Given the description of an element on the screen output the (x, y) to click on. 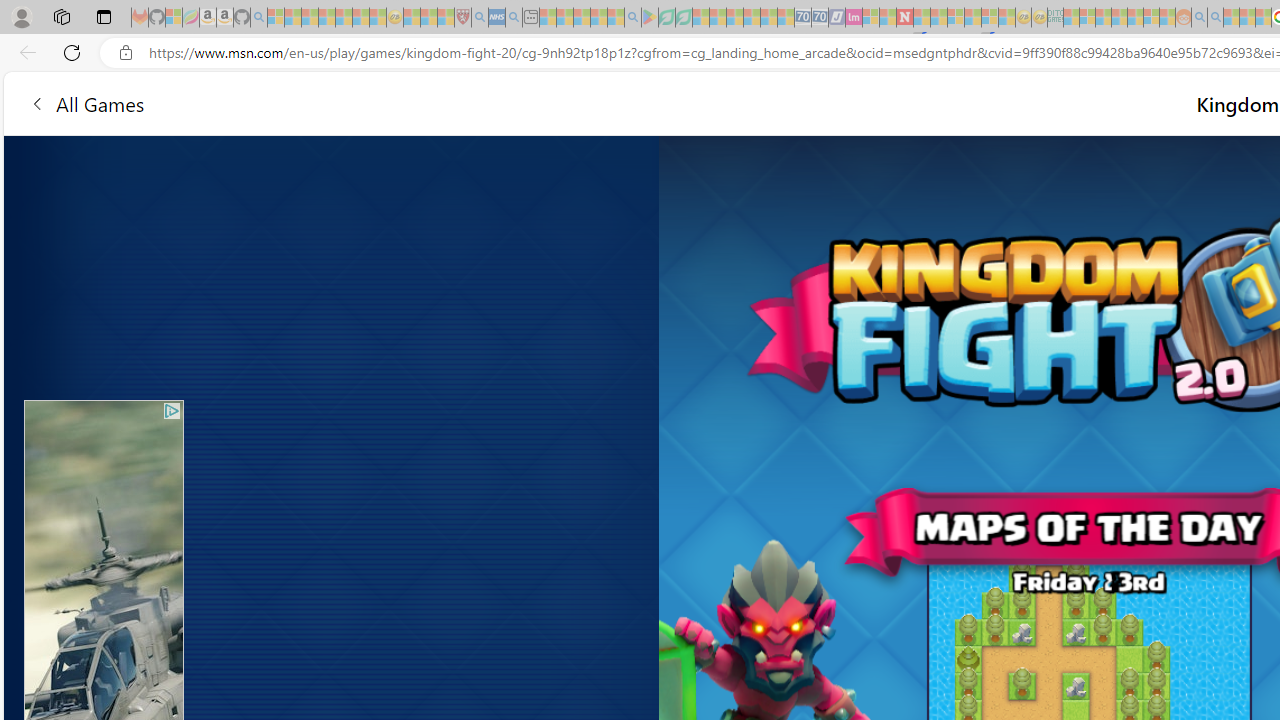
Latest Politics News & Archive | Newsweek.com - Sleeping (904, 17)
Terms of Use Agreement - Sleeping (666, 17)
The Weather Channel - MSN - Sleeping (309, 17)
14 Common Myths Debunked By Scientific Facts - Sleeping (938, 17)
Local - MSN - Sleeping (445, 17)
Bluey: Let's Play! - Apps on Google Play - Sleeping (649, 17)
Cheap Hotels - Save70.com - Sleeping (819, 17)
